Given the description of an element on the screen output the (x, y) to click on. 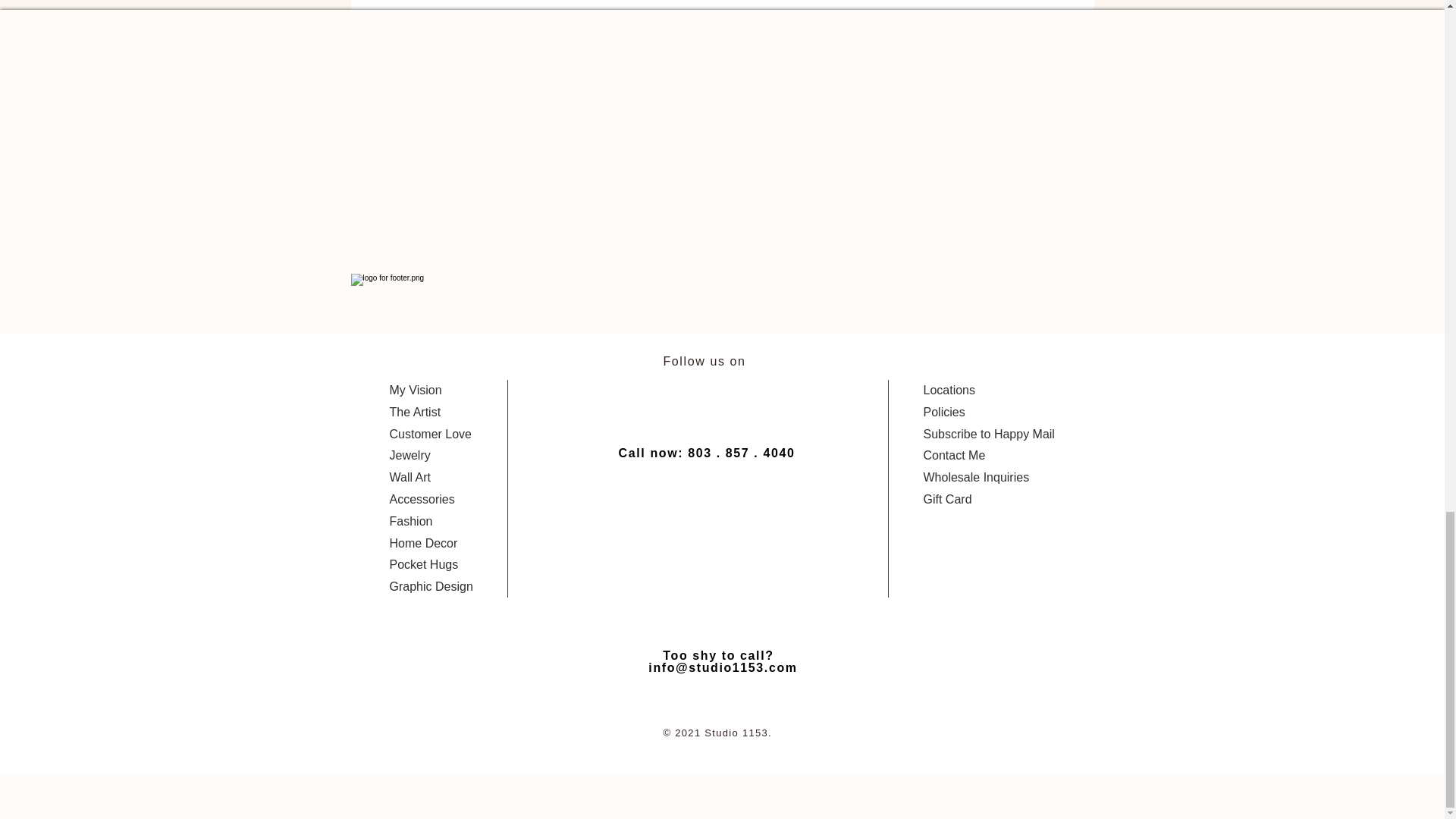
Customer Love (430, 433)
Jewelry (410, 454)
My Vision (416, 390)
The Artist (415, 411)
Wall Art (410, 477)
